Given the description of an element on the screen output the (x, y) to click on. 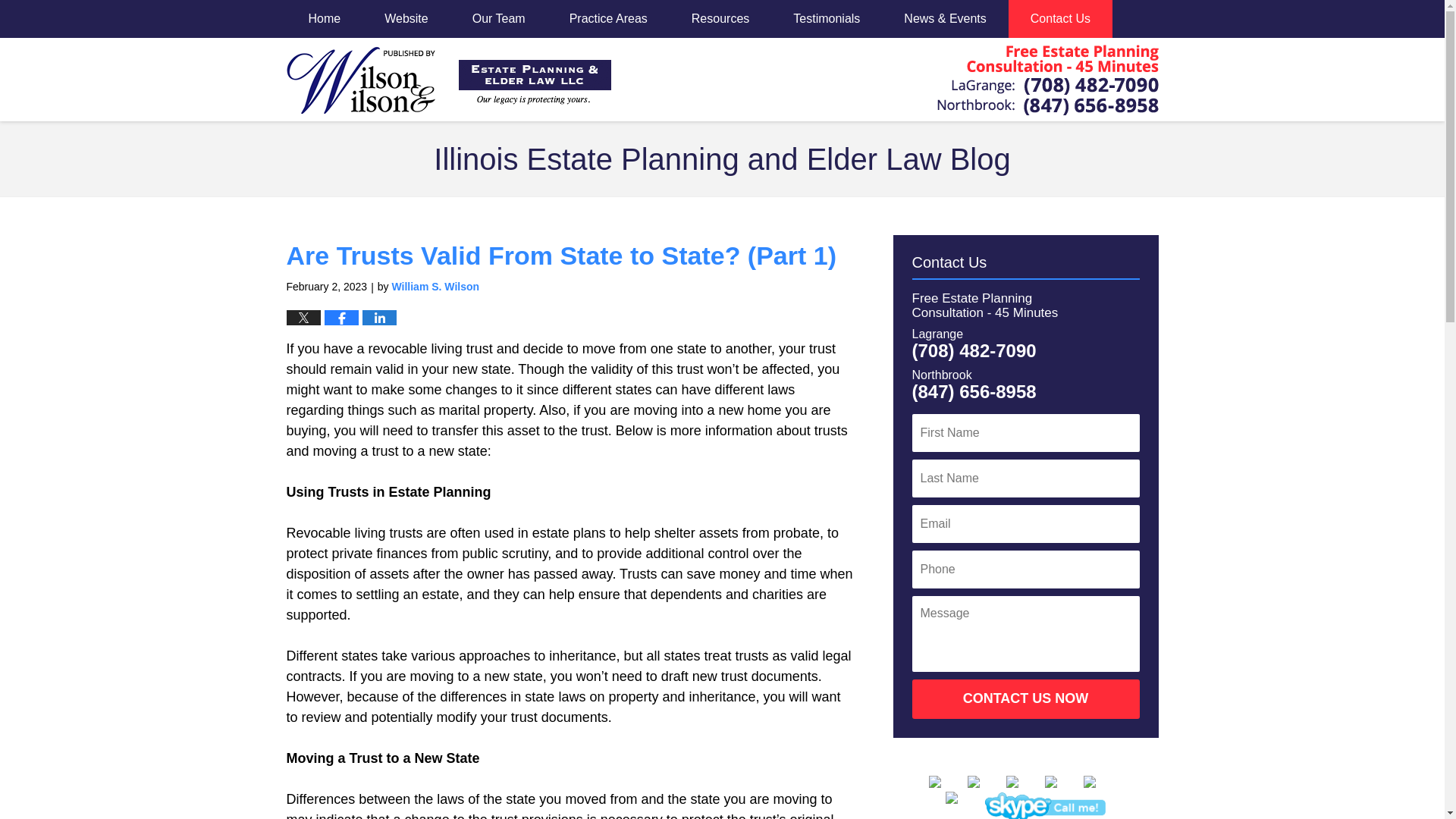
Practice Areas (608, 18)
Please enter a valid phone number. (1024, 569)
Feed (961, 805)
Facebook (945, 781)
Website (405, 18)
CONTACT US NOW (1024, 699)
Home (324, 18)
William S. Wilson (435, 286)
LinkedIn (1023, 781)
Testimonials (826, 18)
